Given the description of an element on the screen output the (x, y) to click on. 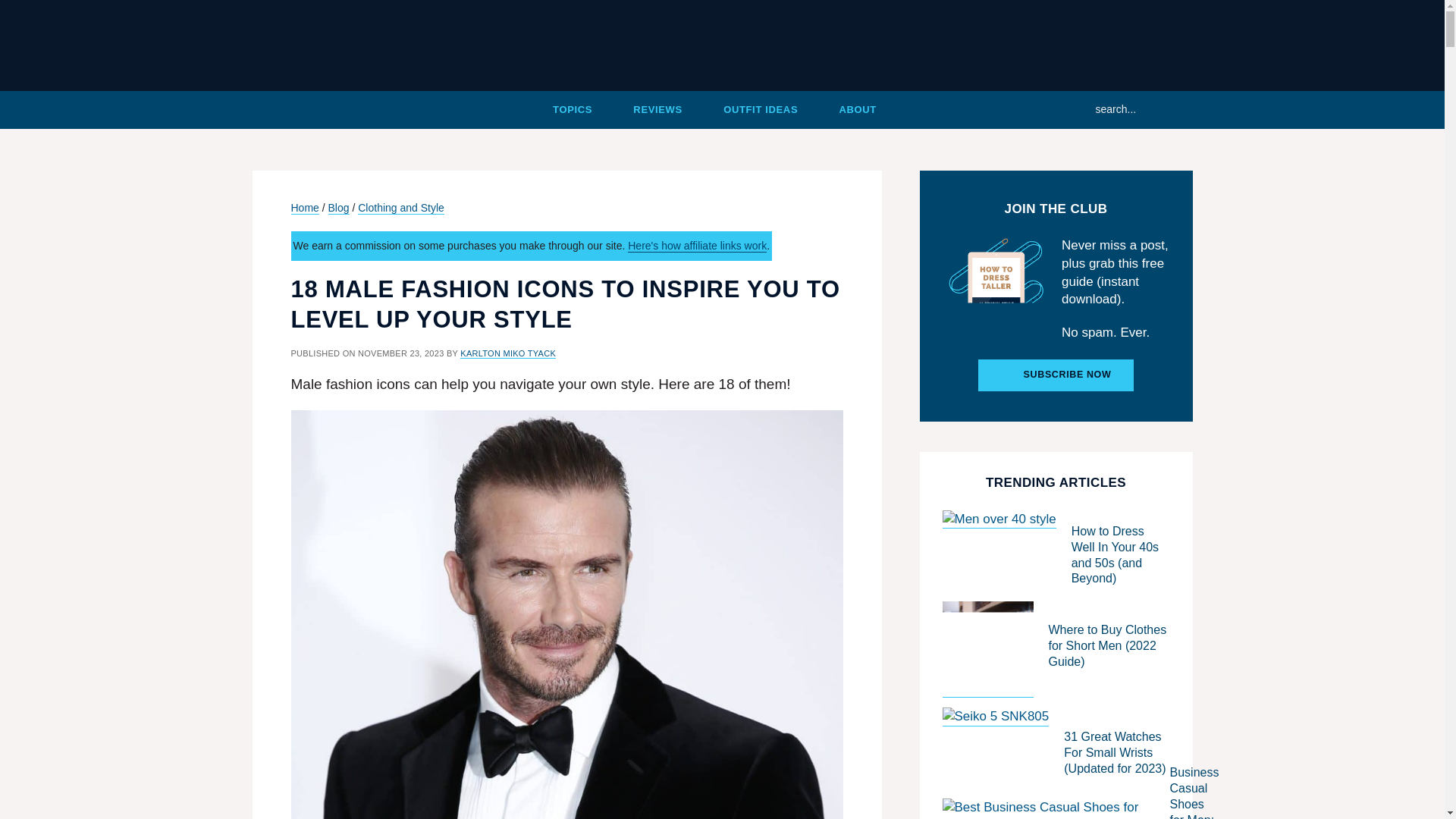
Home (304, 207)
. (296, 109)
REVIEWS (657, 109)
OUTFIT IDEAS (760, 109)
Clothing and Style (401, 207)
The Modest Man (722, 45)
Blog (339, 207)
Home (296, 109)
ABOUT (857, 109)
Here's how affiliate links work (697, 245)
KARLTON MIKO TYACK (508, 353)
TOPICS (572, 109)
